Given the description of an element on the screen output the (x, y) to click on. 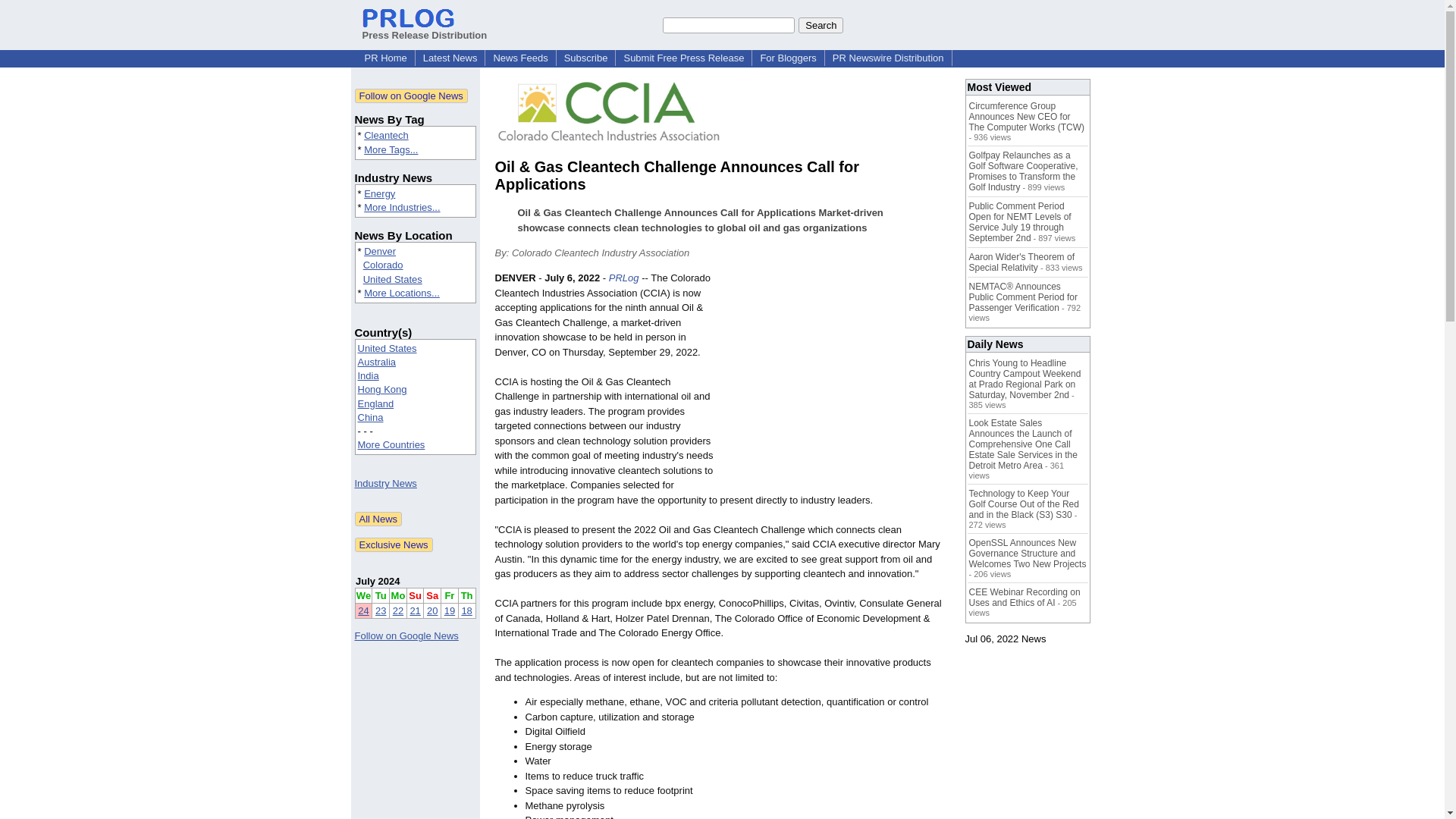
24 (363, 610)
PRLog (623, 277)
Advertisement (835, 381)
Follow on Google News (406, 635)
Denver (380, 251)
July 2024 (377, 581)
Submit Free Press Release (683, 57)
22 (398, 610)
Australia (377, 361)
Industry News (385, 482)
23 (380, 610)
Follow on Google News (411, 95)
Search (820, 24)
20 (432, 610)
For Bloggers (788, 57)
